Given the description of an element on the screen output the (x, y) to click on. 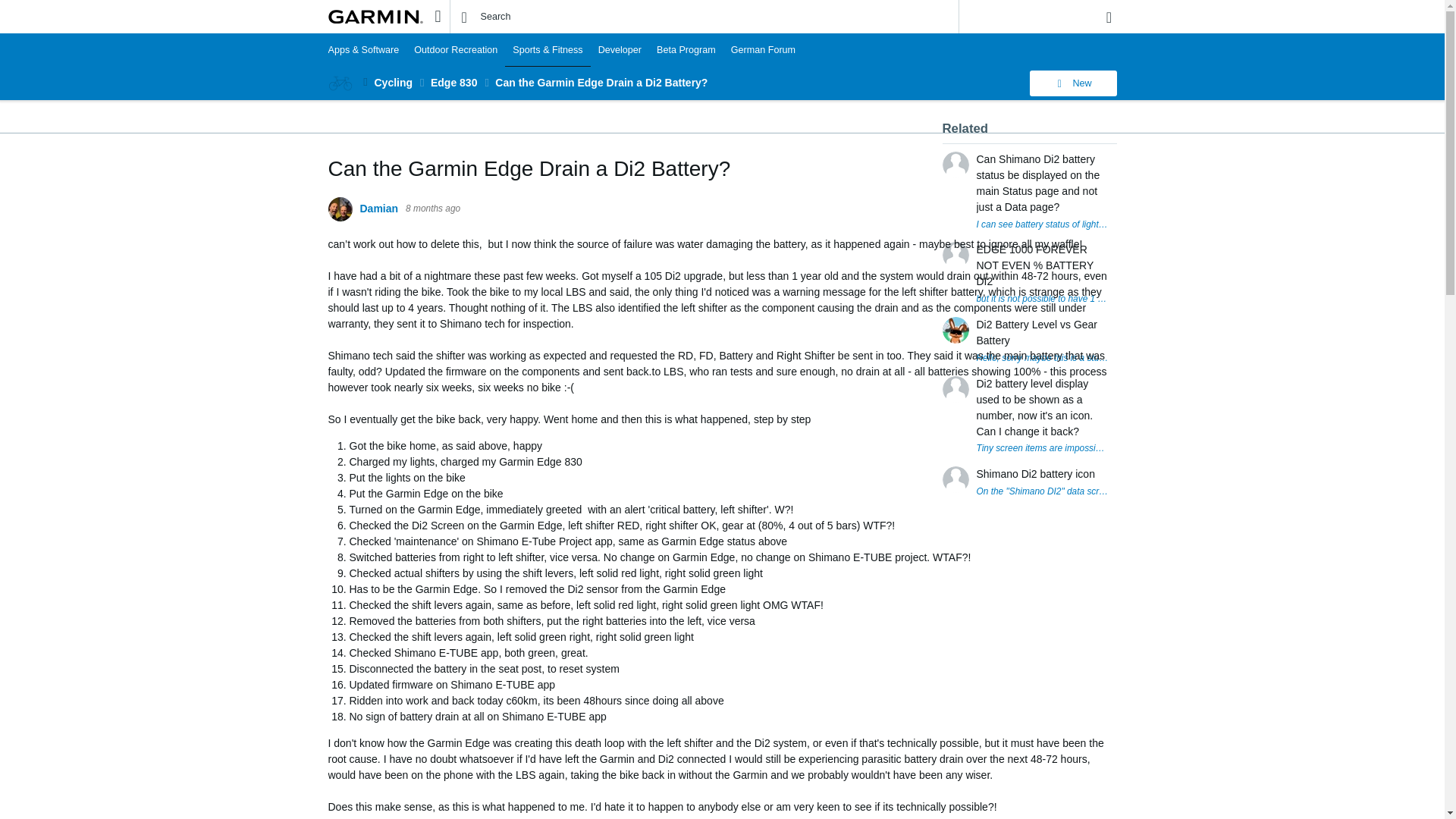
Home (374, 16)
More (365, 82)
Shimano Di2 battery icon (1035, 474)
German Forum (763, 49)
Outdoor Recreation (455, 49)
Can the Garmin Edge Drain a Di2 Battery? (601, 82)
Cycling (393, 82)
Site (437, 15)
Tiny screen items are impossible to see while riding. (1042, 448)
Damian (378, 208)
Developer (620, 49)
User (1108, 17)
Edge 830 (453, 82)
